Given the description of an element on the screen output the (x, y) to click on. 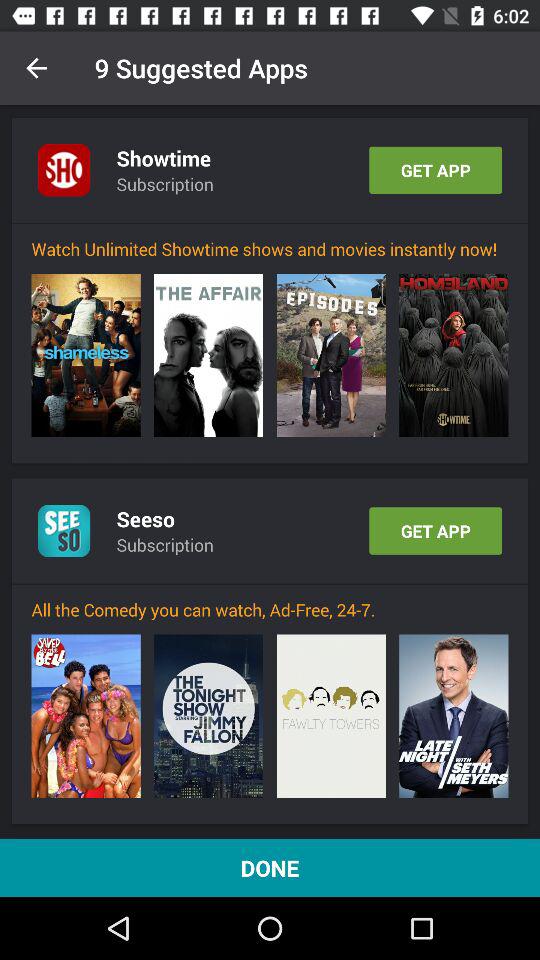
select the icon above done icon (208, 716)
